Given the description of an element on the screen output the (x, y) to click on. 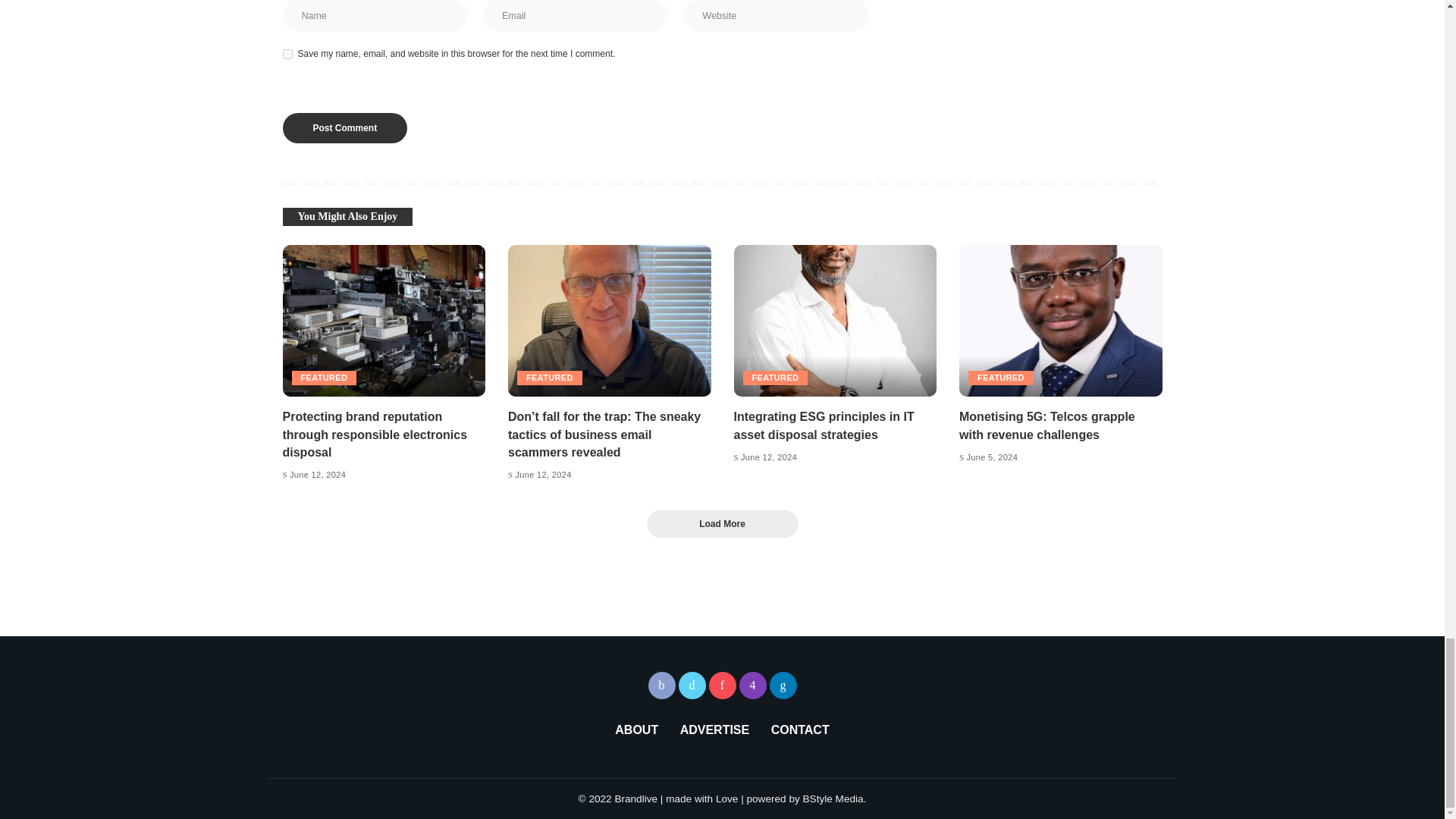
yes (287, 53)
Post Comment (344, 128)
